Given the description of an element on the screen output the (x, y) to click on. 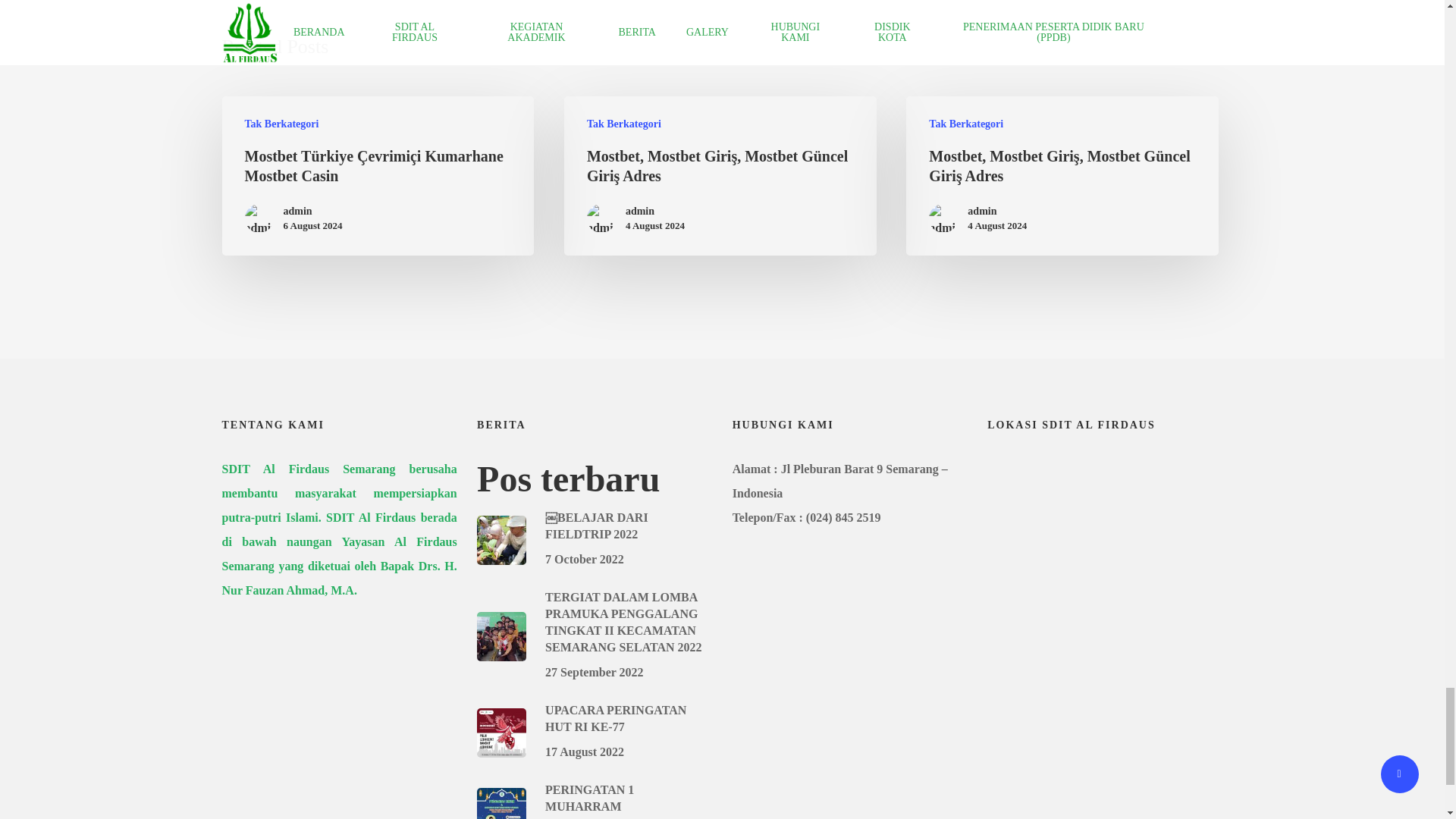
admin (655, 211)
Tak Berkategori (965, 124)
Tak Berkategori (281, 124)
admin (312, 211)
Tak Berkategori (623, 124)
